Given the description of an element on the screen output the (x, y) to click on. 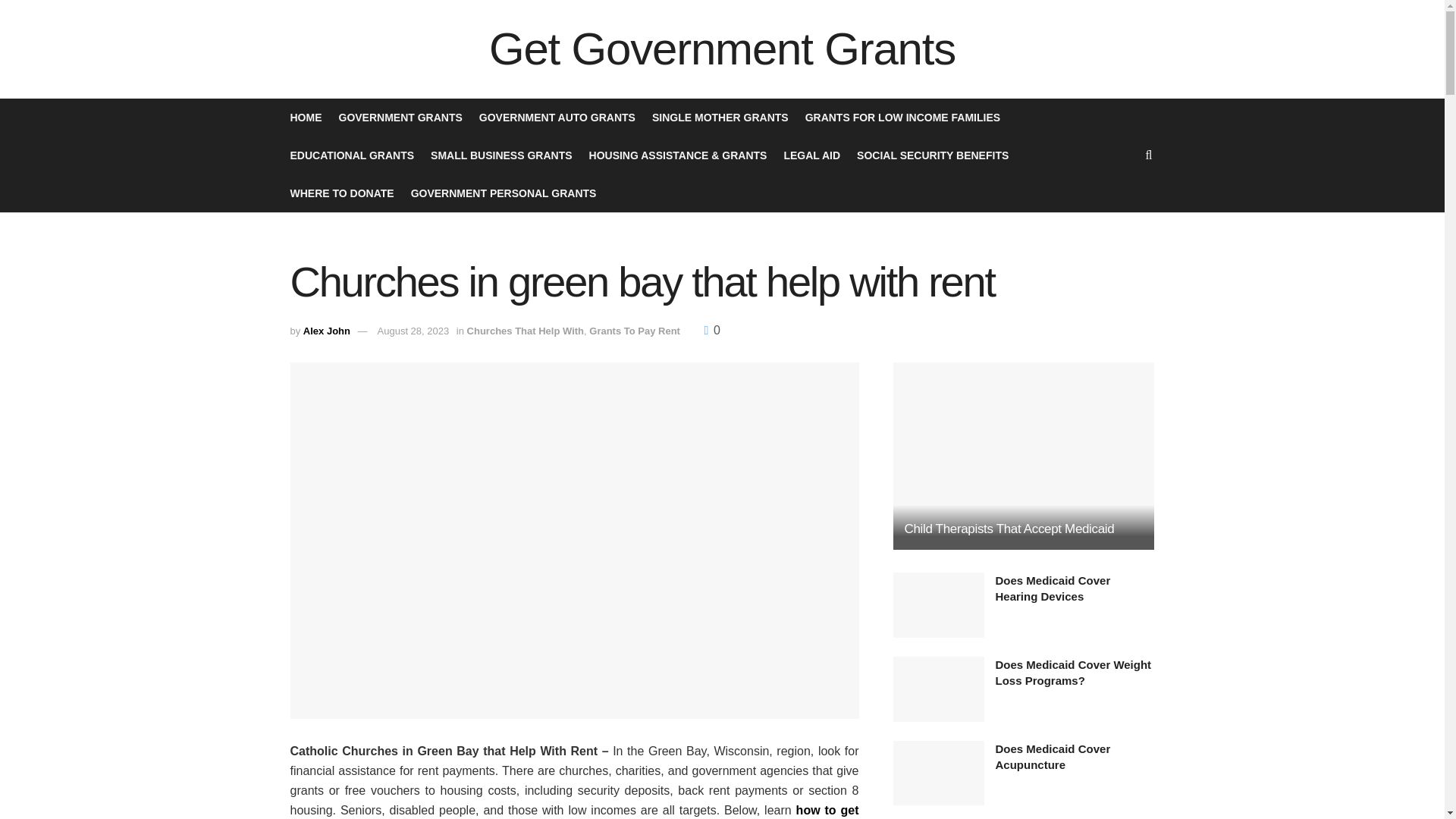
Alex John (326, 330)
LEGAL AID (811, 155)
GRANTS FOR LOW INCOME FAMILIES (902, 117)
SOCIAL SECURITY BENEFITS (933, 155)
GOVERNMENT AUTO GRANTS (556, 117)
EDUCATIONAL GRANTS (351, 155)
August 28, 2023 (413, 330)
Get Government Grants (722, 49)
Churches That Help With (525, 330)
GOVERNMENT GRANTS (399, 117)
